Given the description of an element on the screen output the (x, y) to click on. 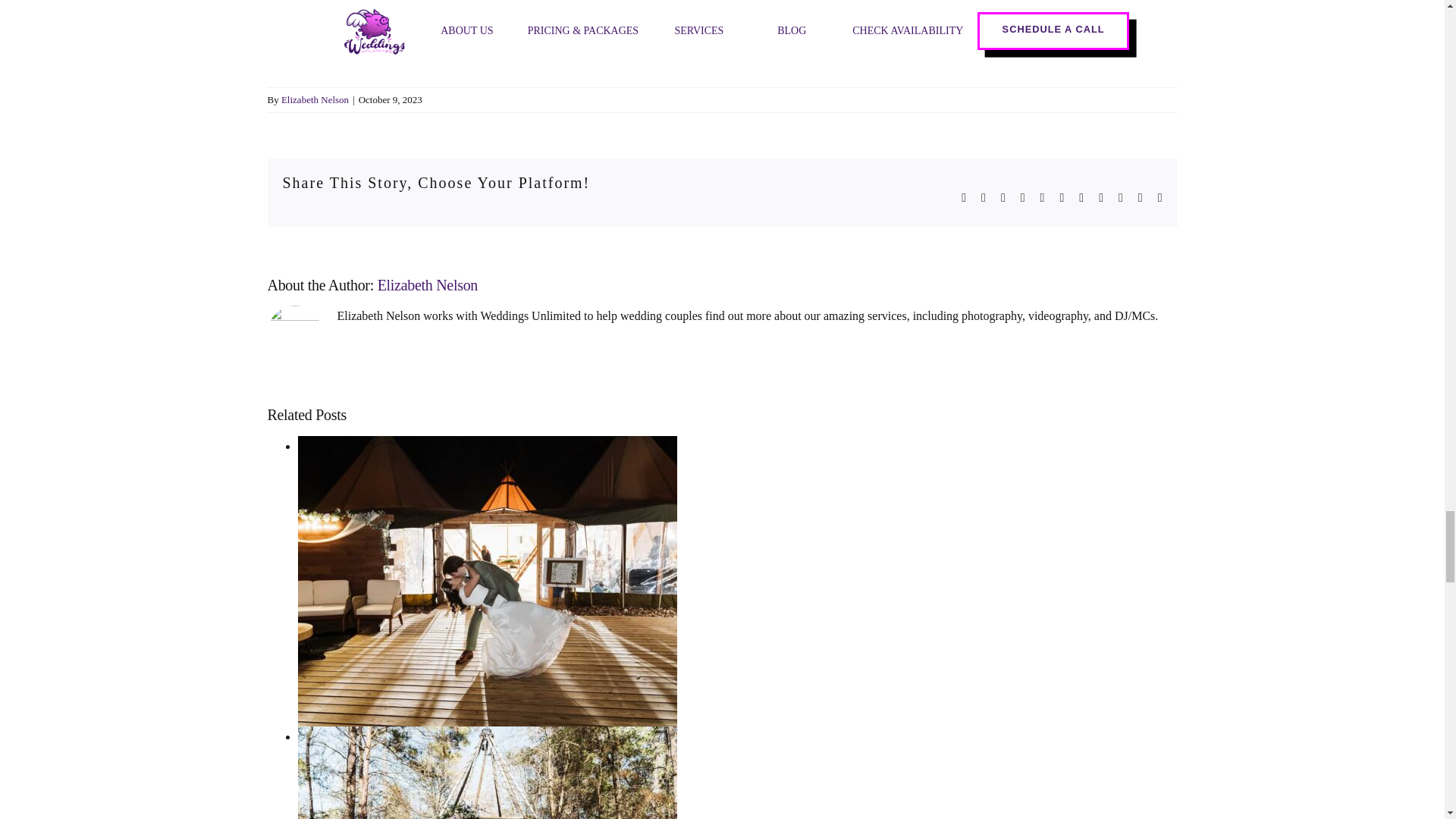
Posts by Elizabeth Nelson (315, 99)
